Given the description of an element on the screen output the (x, y) to click on. 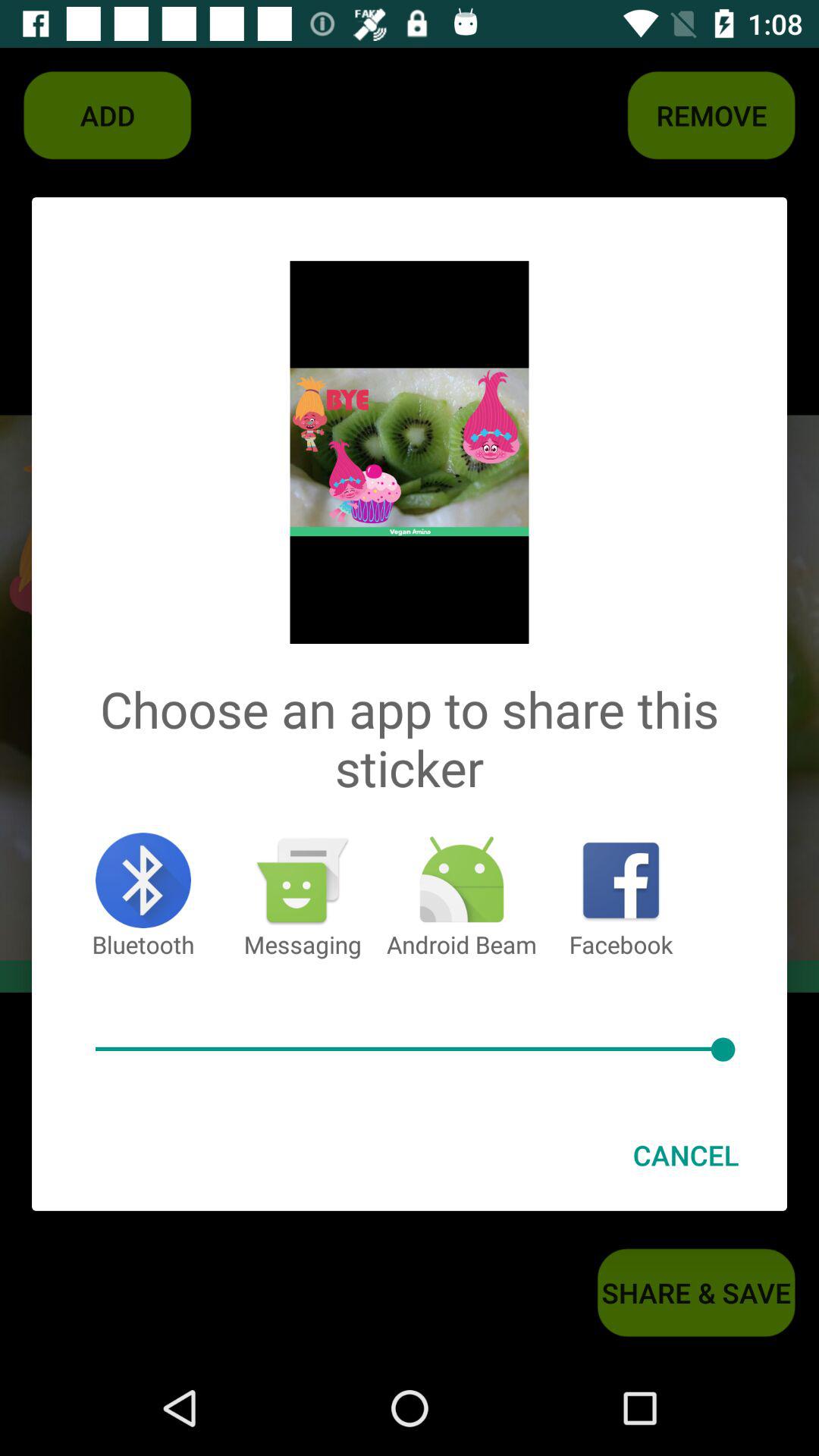
swipe to cancel item (686, 1154)
